Given the description of an element on the screen output the (x, y) to click on. 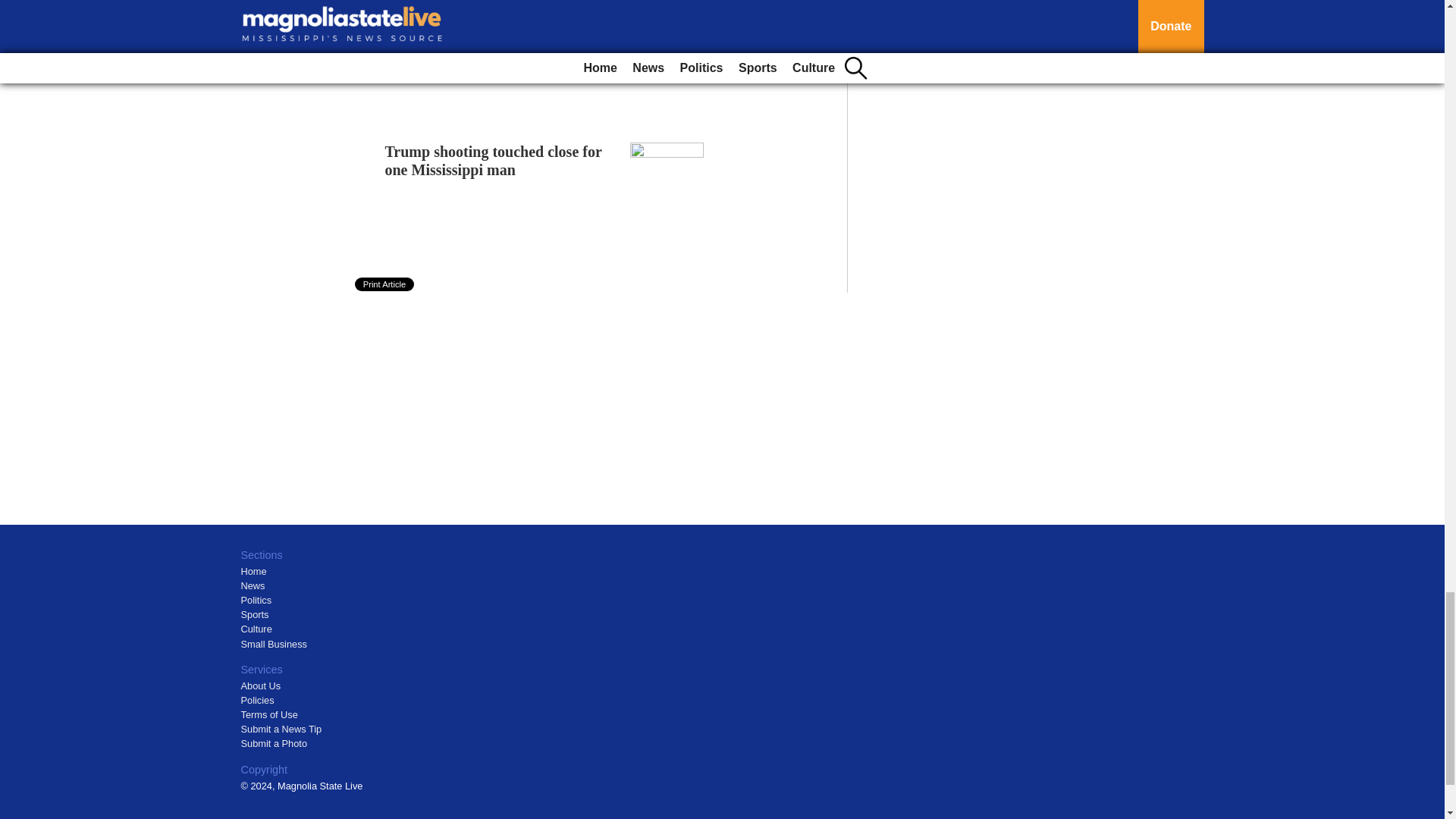
Print Article (384, 284)
Small Business (274, 644)
Submit a News Tip (281, 728)
Policies (258, 699)
Politics (256, 600)
Sports (255, 614)
News (252, 585)
Home (253, 571)
Trump shooting touched close for one Mississippi man (493, 160)
About Us (261, 685)
Submit a Photo (274, 743)
Culture (256, 628)
Terms of Use (269, 714)
